Given the description of an element on the screen output the (x, y) to click on. 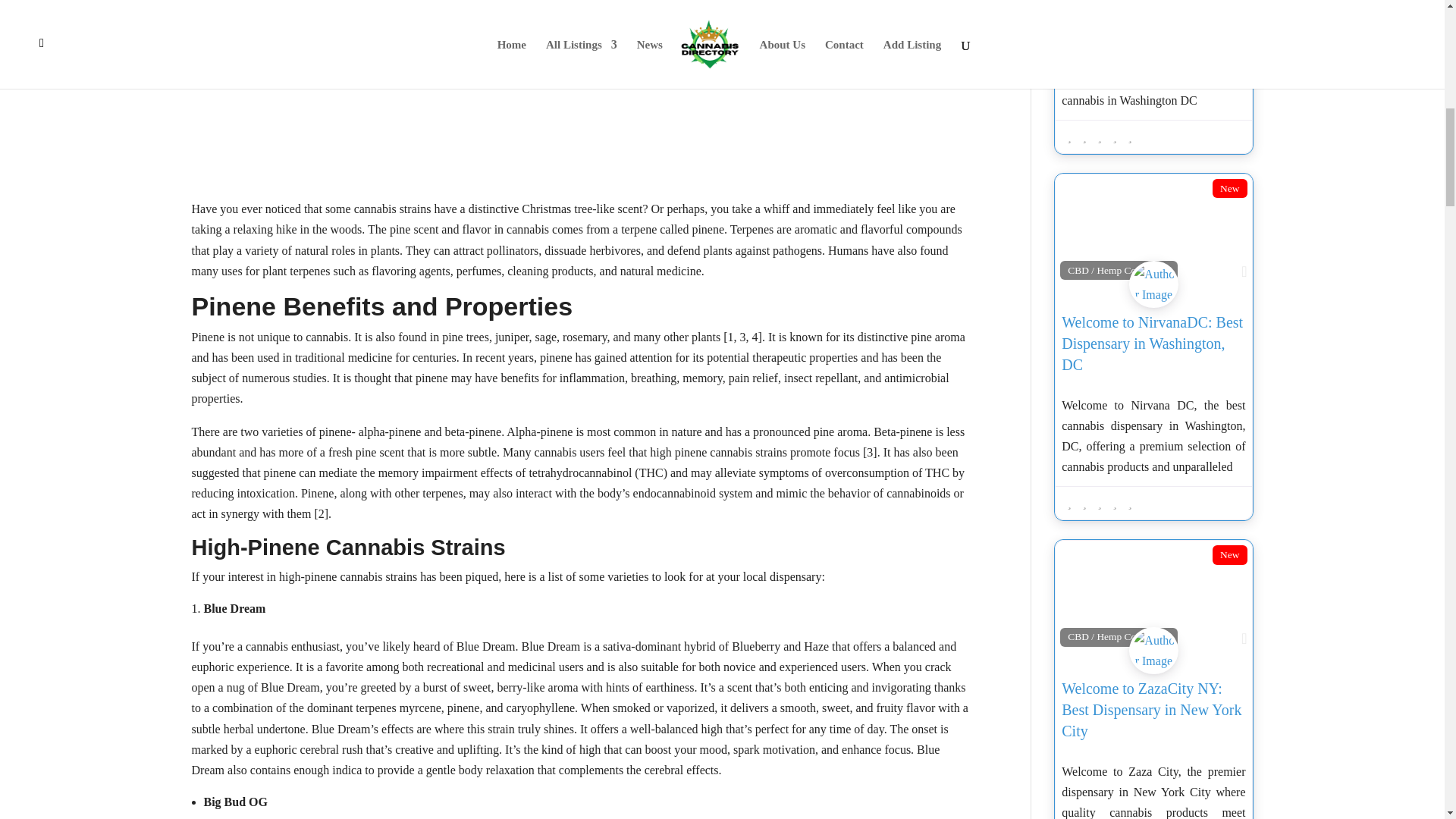
nirvanadcdispensary (1153, 300)
No rating yet! (1099, 503)
No rating yet! (1099, 136)
View: Welcome to DCLeafly: Best Dispensary in Washington, DC (1147, 2)
